Given the description of an element on the screen output the (x, y) to click on. 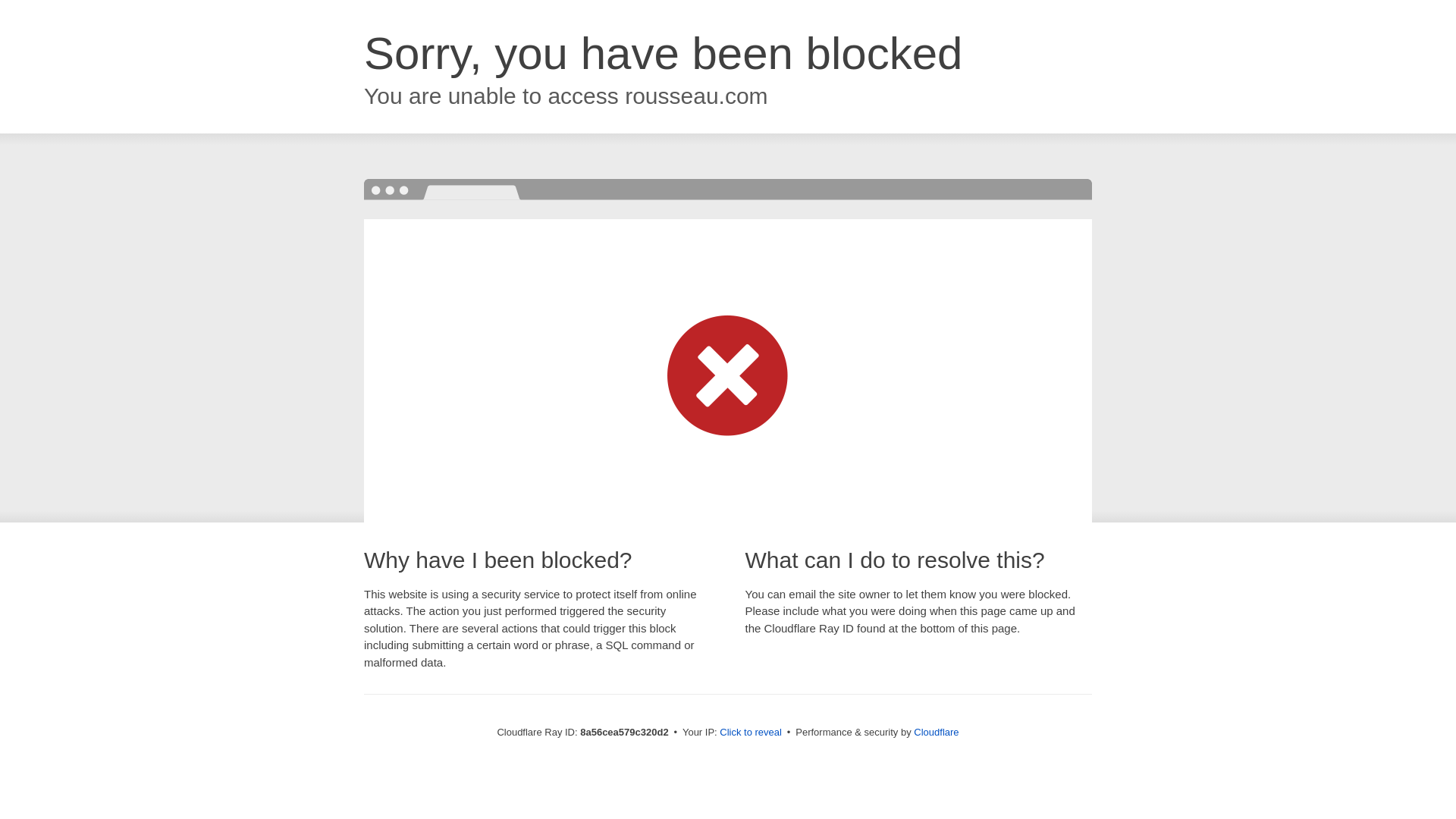
Cloudflare (936, 731)
Click to reveal (750, 732)
